Given the description of an element on the screen output the (x, y) to click on. 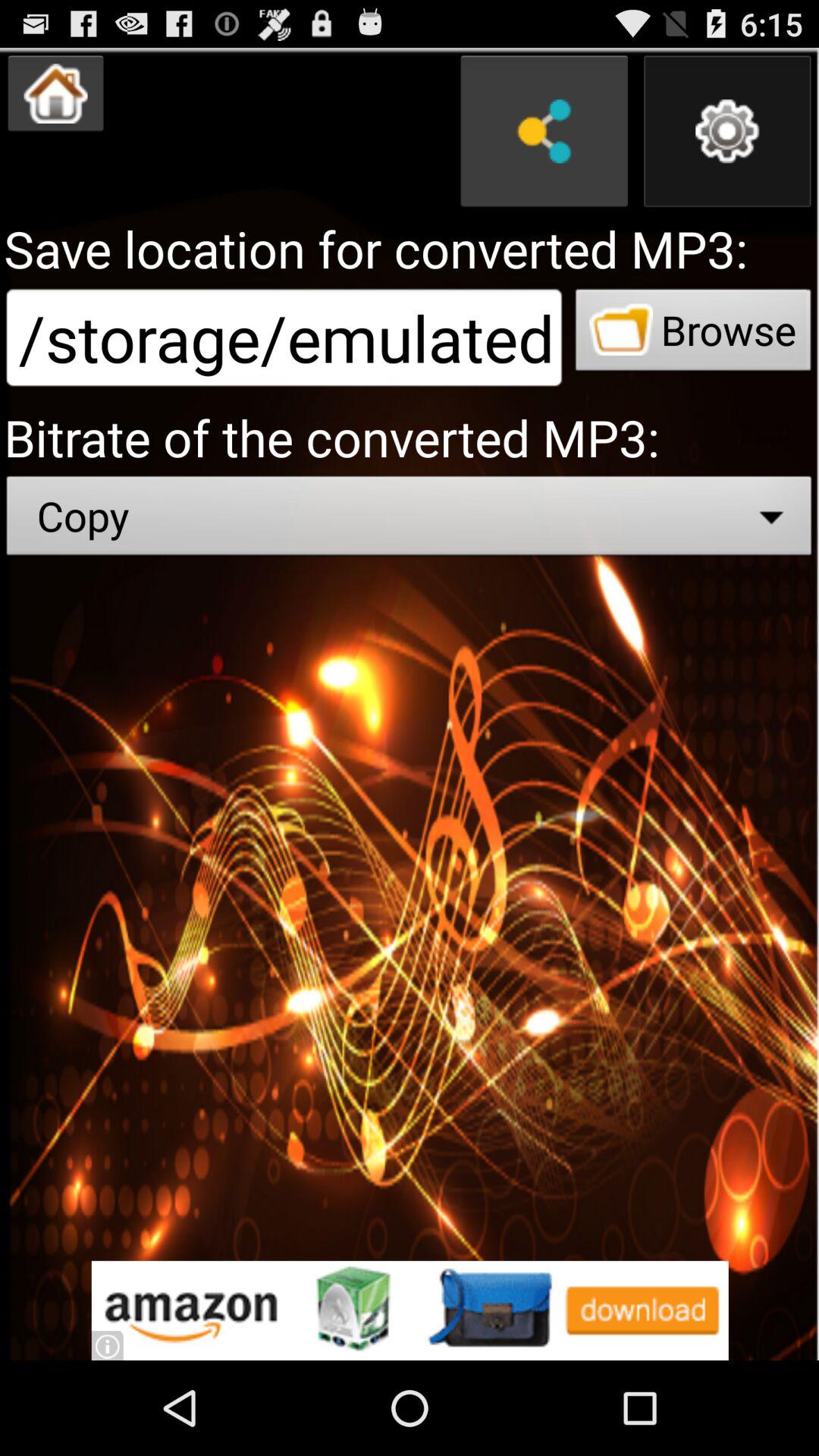
open advertisement (409, 1310)
